Given the description of an element on the screen output the (x, y) to click on. 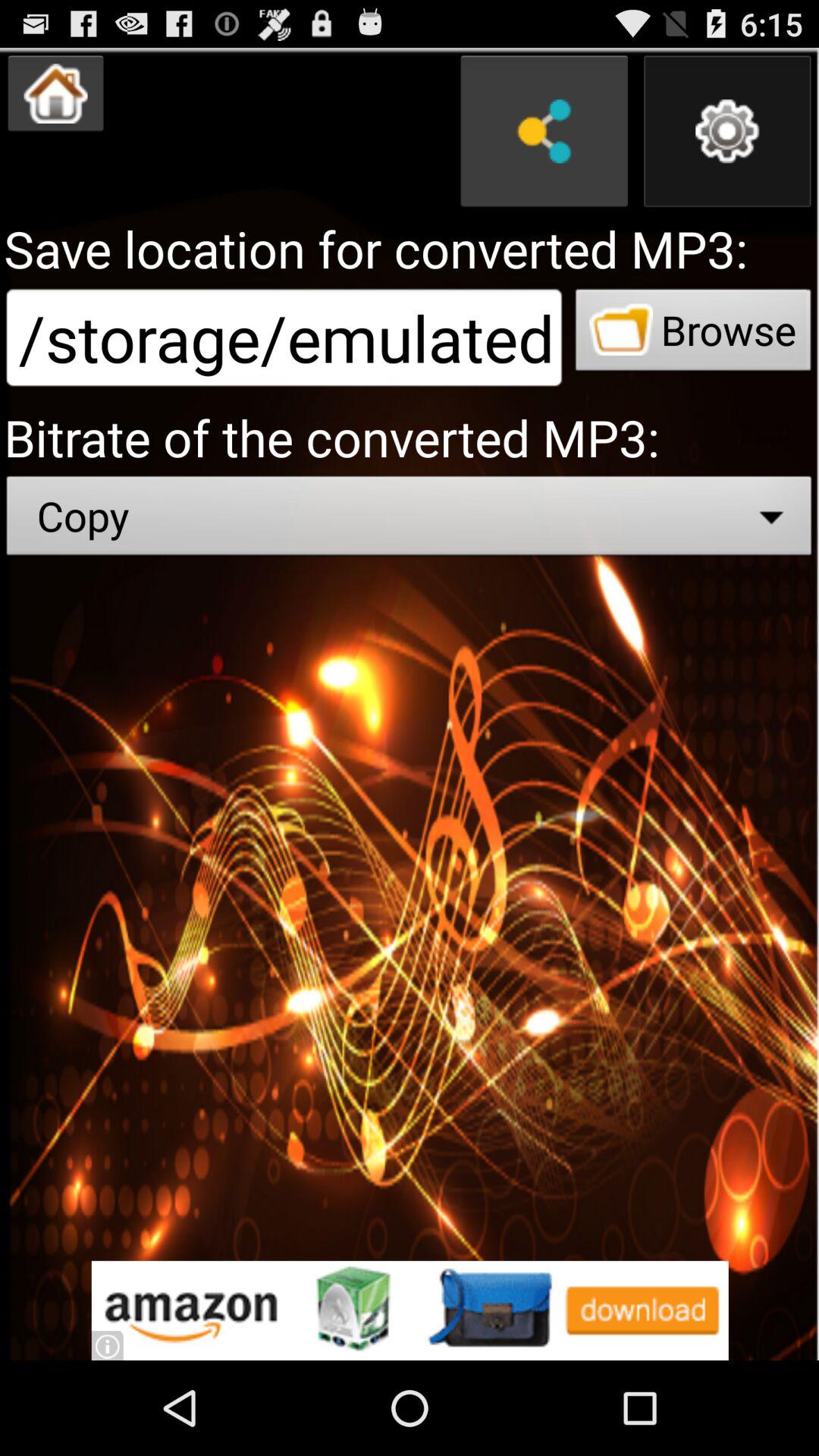
open advertisement (409, 1310)
